Given the description of an element on the screen output the (x, y) to click on. 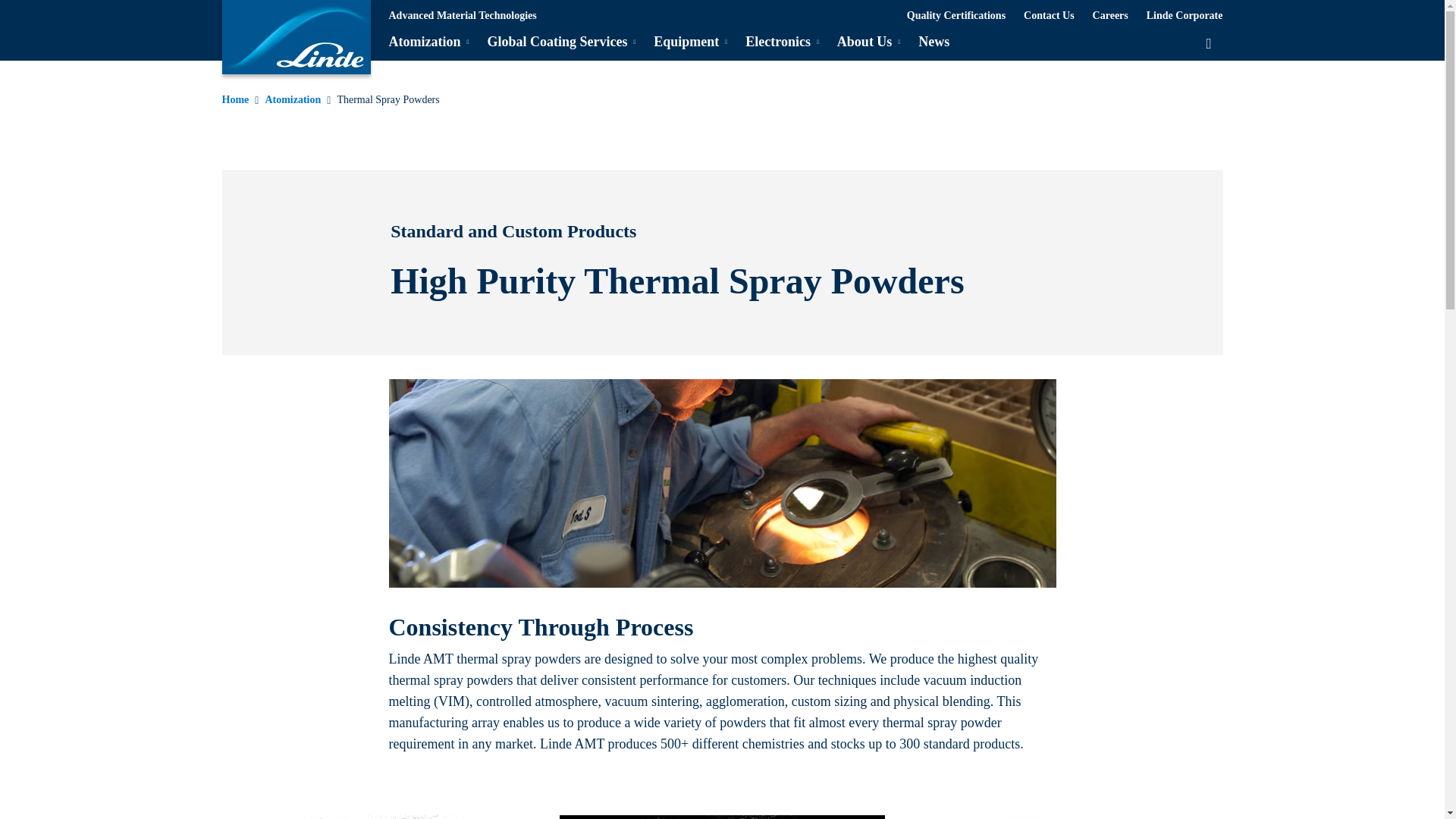
Atomization (292, 99)
Contact Us (1048, 15)
Careers (1110, 15)
Home (234, 99)
Linde Corporate (1185, 15)
News (933, 42)
Quality Certifications (956, 15)
